Given the description of an element on the screen output the (x, y) to click on. 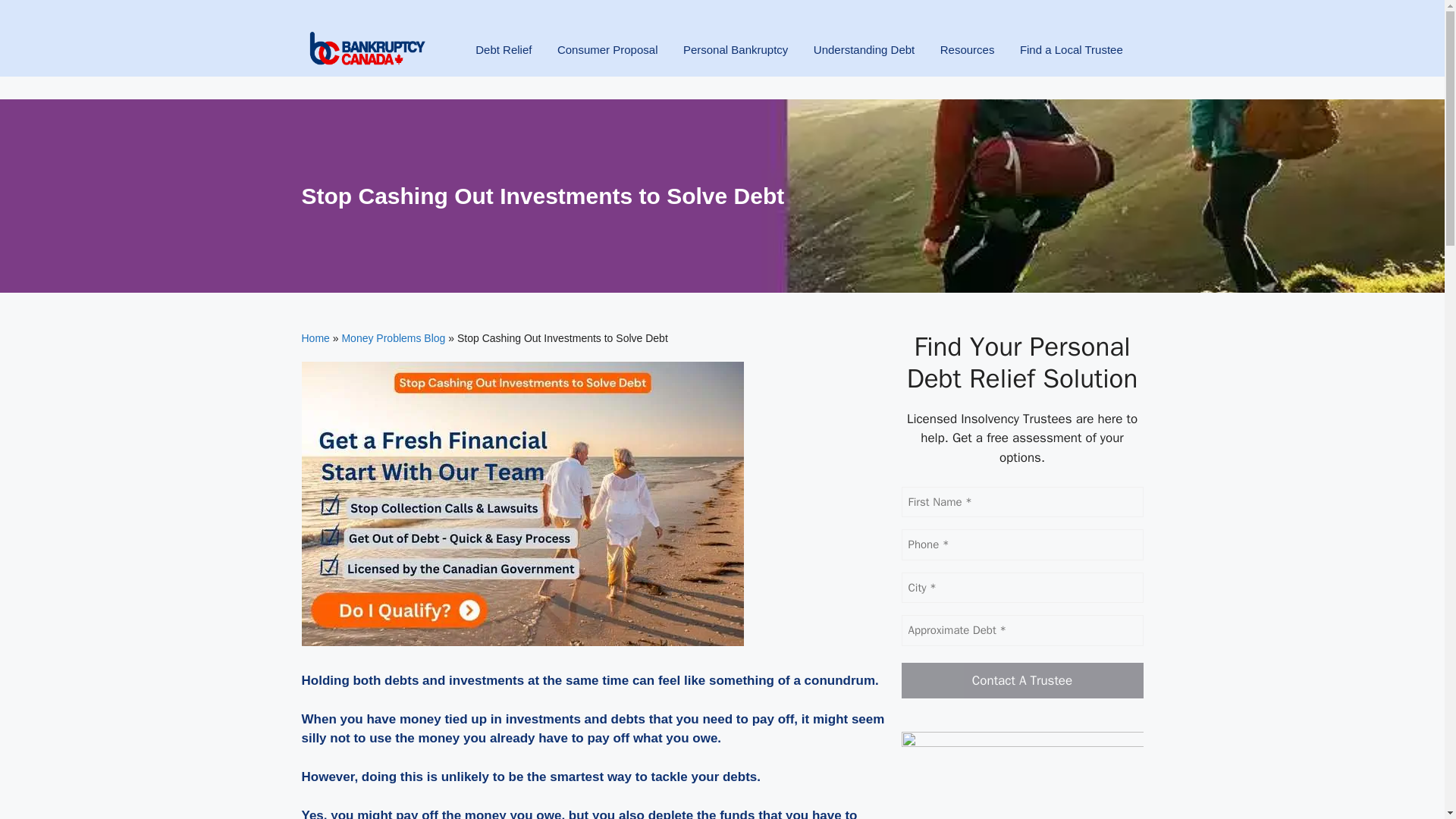
Understanding Debt (863, 59)
Find a Local Trustee (1071, 59)
Contact A Trustee (1021, 680)
Personal Bankruptcy (734, 59)
Consumer Proposal (606, 59)
Resources (967, 59)
Debt Relief (503, 59)
